Given the description of an element on the screen output the (x, y) to click on. 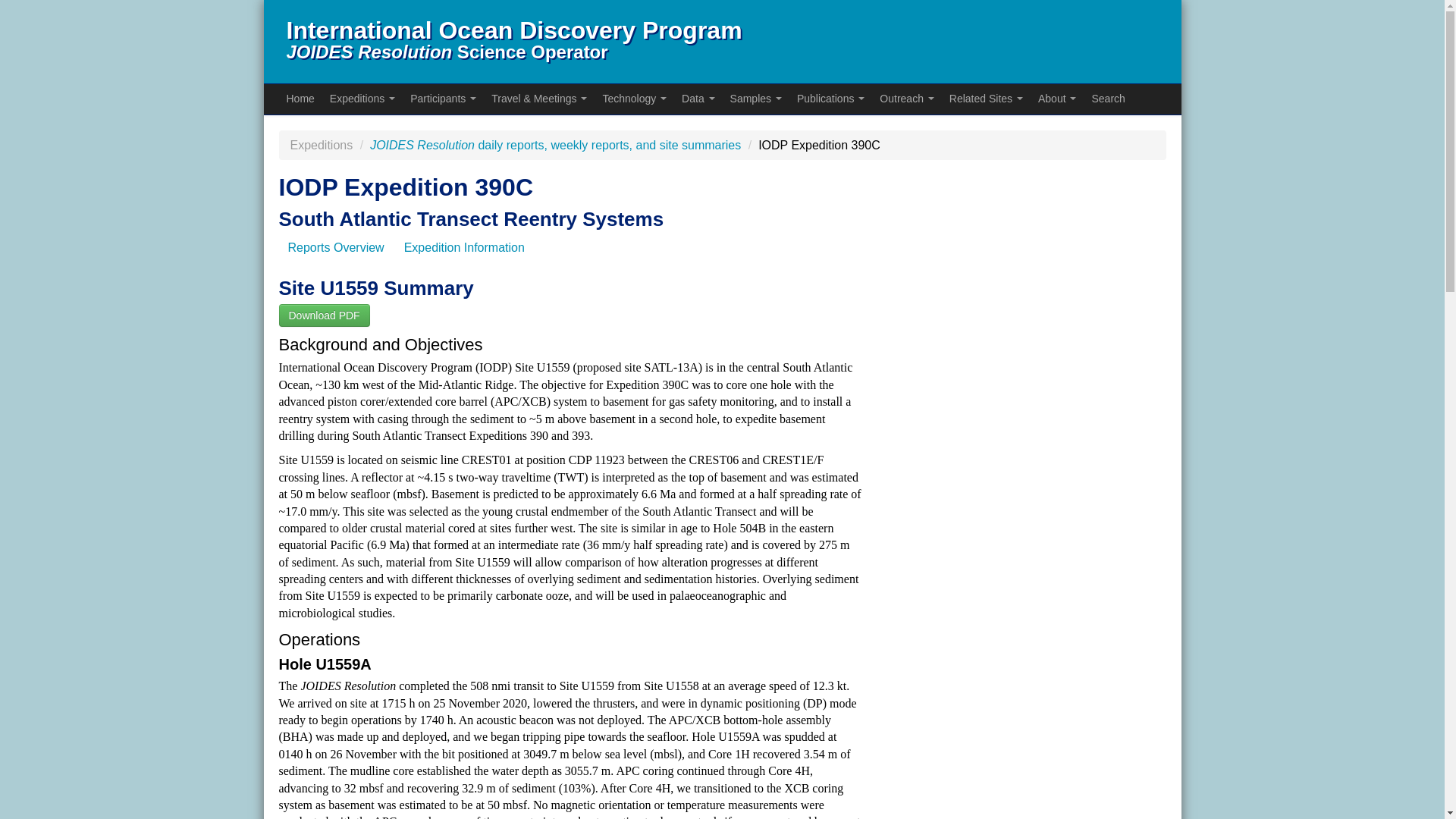
Expeditions (362, 99)
Technology (634, 99)
Home (300, 99)
Participants (443, 99)
Data (698, 99)
